Given the description of an element on the screen output the (x, y) to click on. 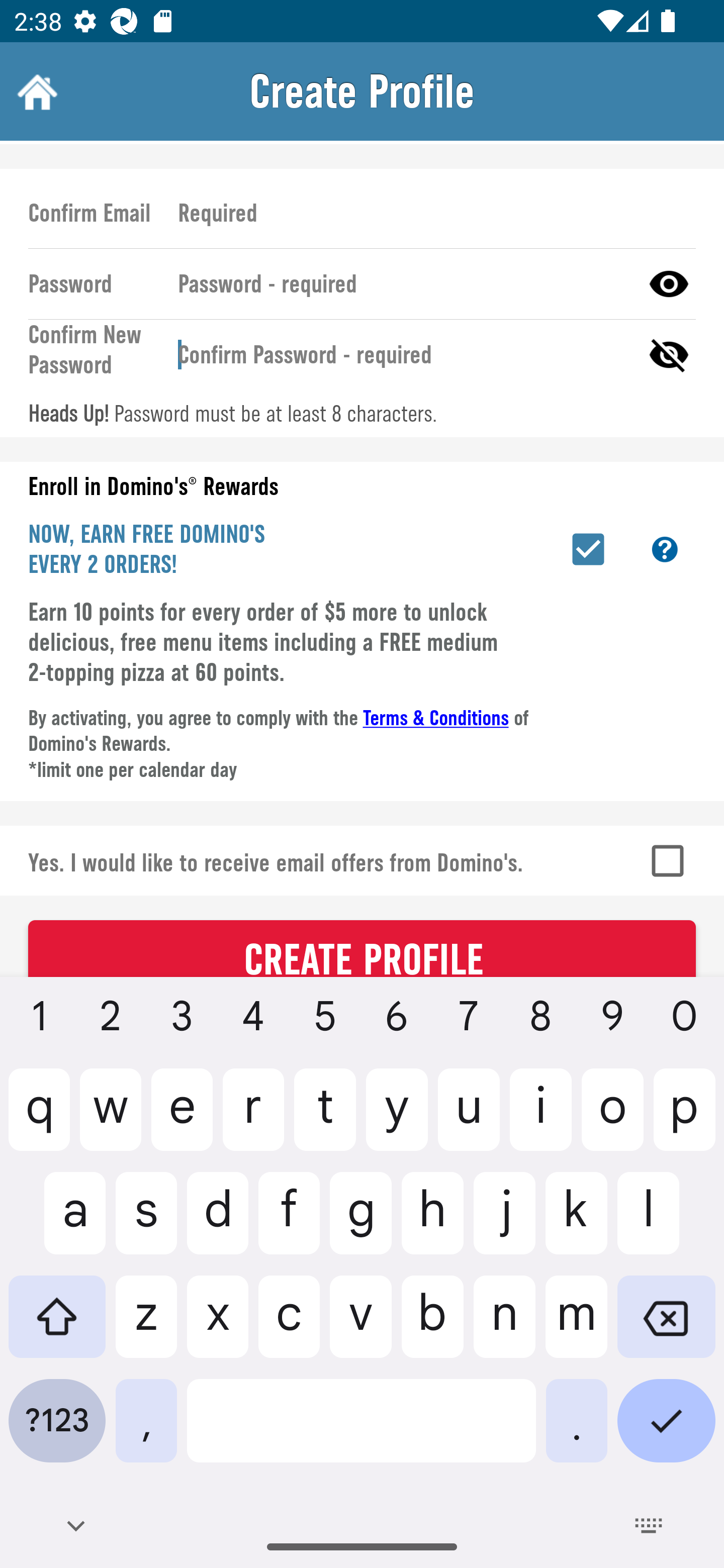
Home (35, 91)
Required Confirm Email Address (427, 212)
Password - required (401, 284)
Show Password (668, 284)
Confirm Password - required (401, 354)
Hide Password (668, 354)
Enroll in Piece of the Pie Rewards (588, 548)
CREATE PROFILE (361, 948)
